Given the description of an element on the screen output the (x, y) to click on. 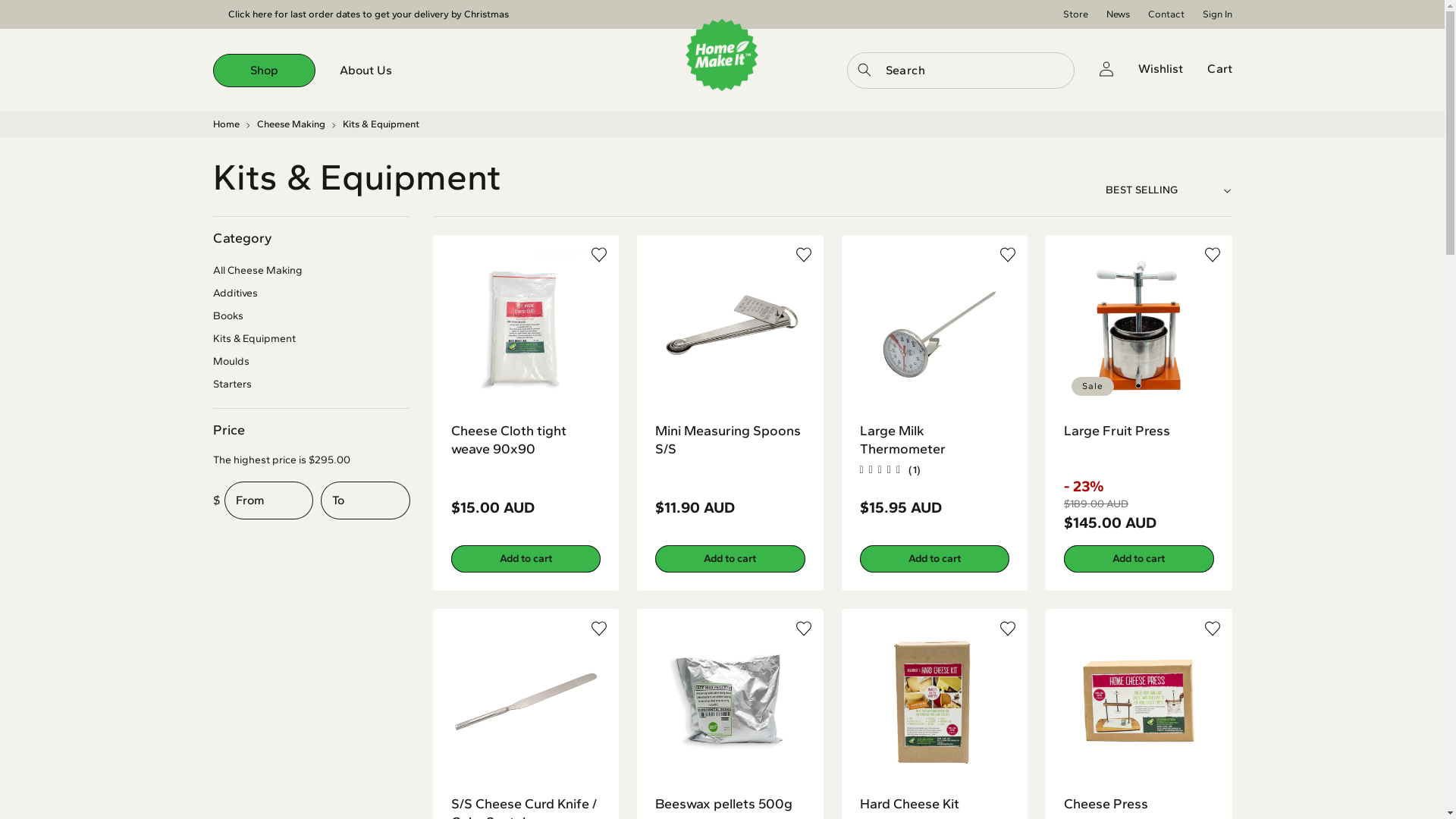
About Us Element type: text (365, 70)
Home Element type: text (225, 124)
Add to cart Element type: text (1138, 558)
Add to cart Element type: text (730, 558)
Add to cart Element type: text (525, 558)
Additives Element type: text (310, 293)
Cheese Making Element type: text (290, 124)
News Element type: text (1117, 14)
Sign In Element type: text (1105, 68)
All Cheese Making Element type: text (310, 270)
Wishlist Element type: text (1159, 68)
Moulds Element type: text (310, 361)
Large Milk Thermometer Element type: text (934, 439)
Sign In Element type: text (1217, 14)
Store Element type: text (1075, 14)
Cart Element type: text (1219, 68)
Cheese Cloth tight weave 90x90 Element type: text (525, 439)
Large Fruit Press Element type: text (1138, 430)
Kits & Equipment Element type: text (310, 338)
Books Element type: text (310, 315)
Beeswax pellets 500g Element type: text (730, 803)
Mini Measuring Spoons S/S Element type: text (730, 439)
Add to cart Element type: text (934, 558)
Cheese Press Element type: text (1138, 803)
Hard Cheese Kit Element type: text (934, 803)
Contact Element type: text (1166, 14)
Starters Element type: text (310, 384)
